Given the description of an element on the screen output the (x, y) to click on. 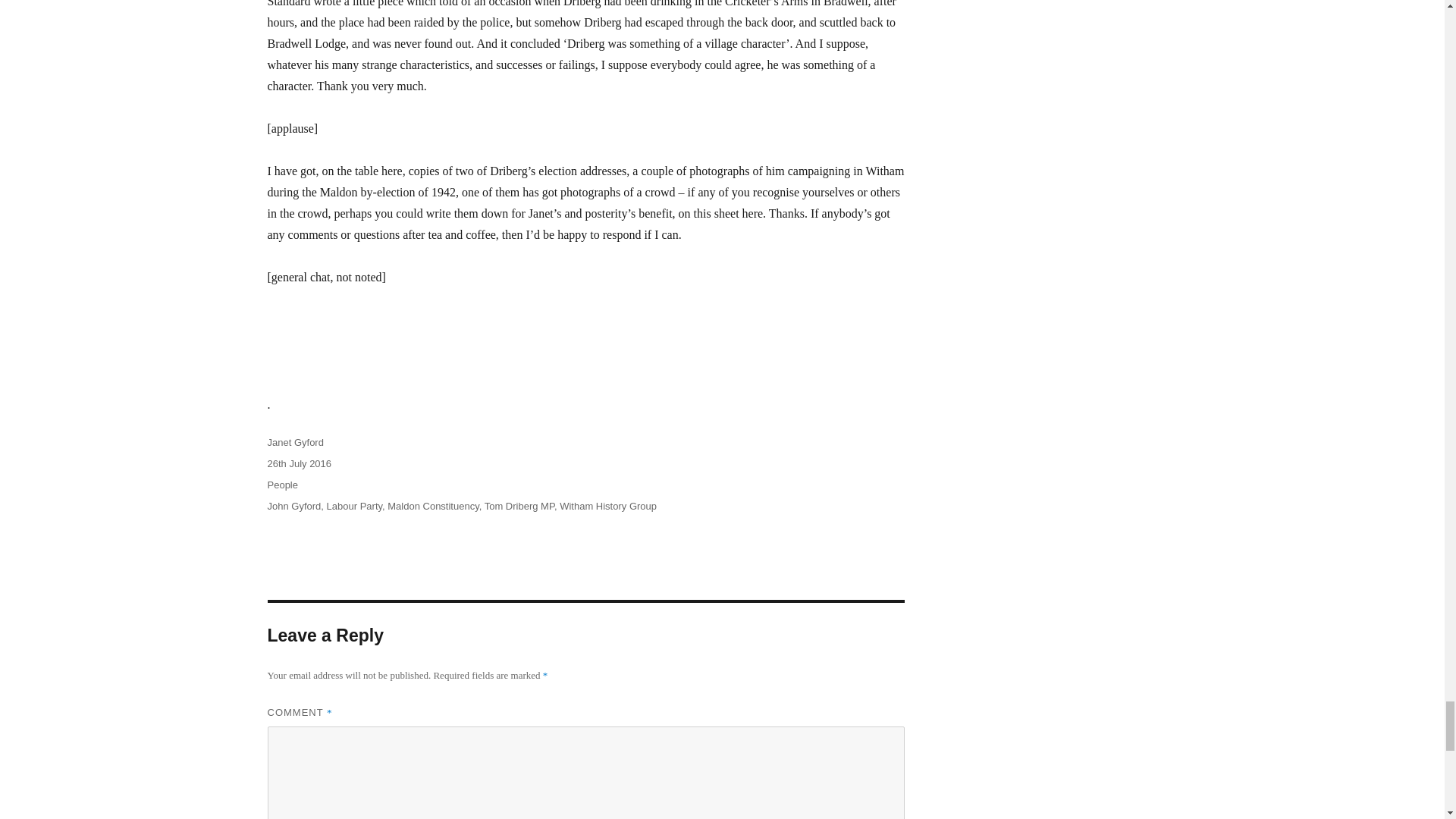
Janet Gyford (294, 441)
Maldon Constituency (433, 505)
Witham History Group (607, 505)
Tom Driberg MP (519, 505)
John Gyford (293, 505)
People (281, 484)
Labour Party (353, 505)
26th July 2016 (298, 463)
